Given the description of an element on the screen output the (x, y) to click on. 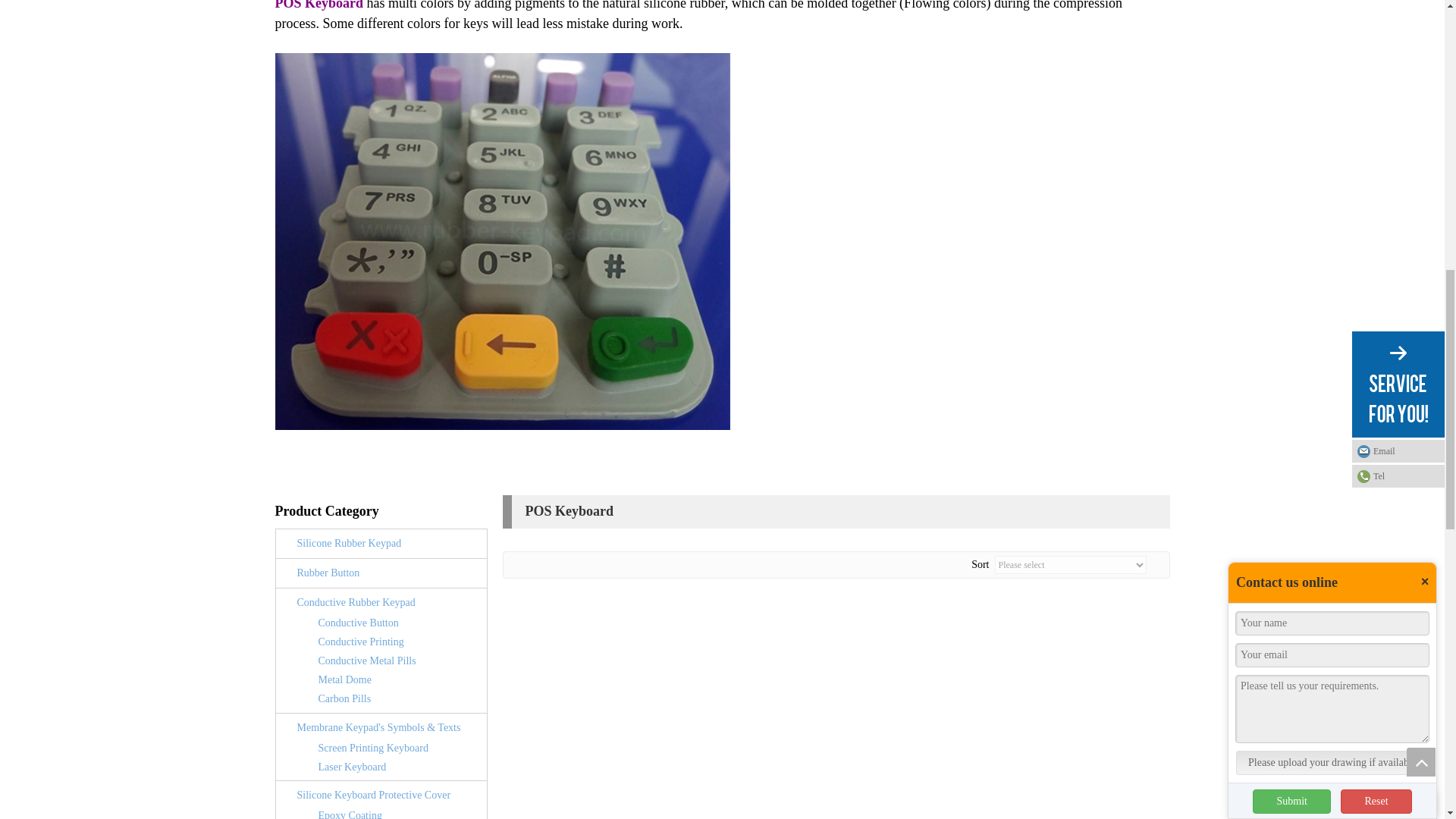
Metal Dome (344, 679)
Carbon Pills (344, 698)
Rubber Button (328, 572)
Screen Printing Keyboard (373, 747)
Silicone Rubber Keypad (349, 542)
Conductive Rubber Keypad (355, 601)
Conductive Printing (361, 641)
Conductive Button (358, 622)
Laser Keyboard (352, 766)
Conductive Metal Pills (367, 660)
